Given the description of an element on the screen output the (x, y) to click on. 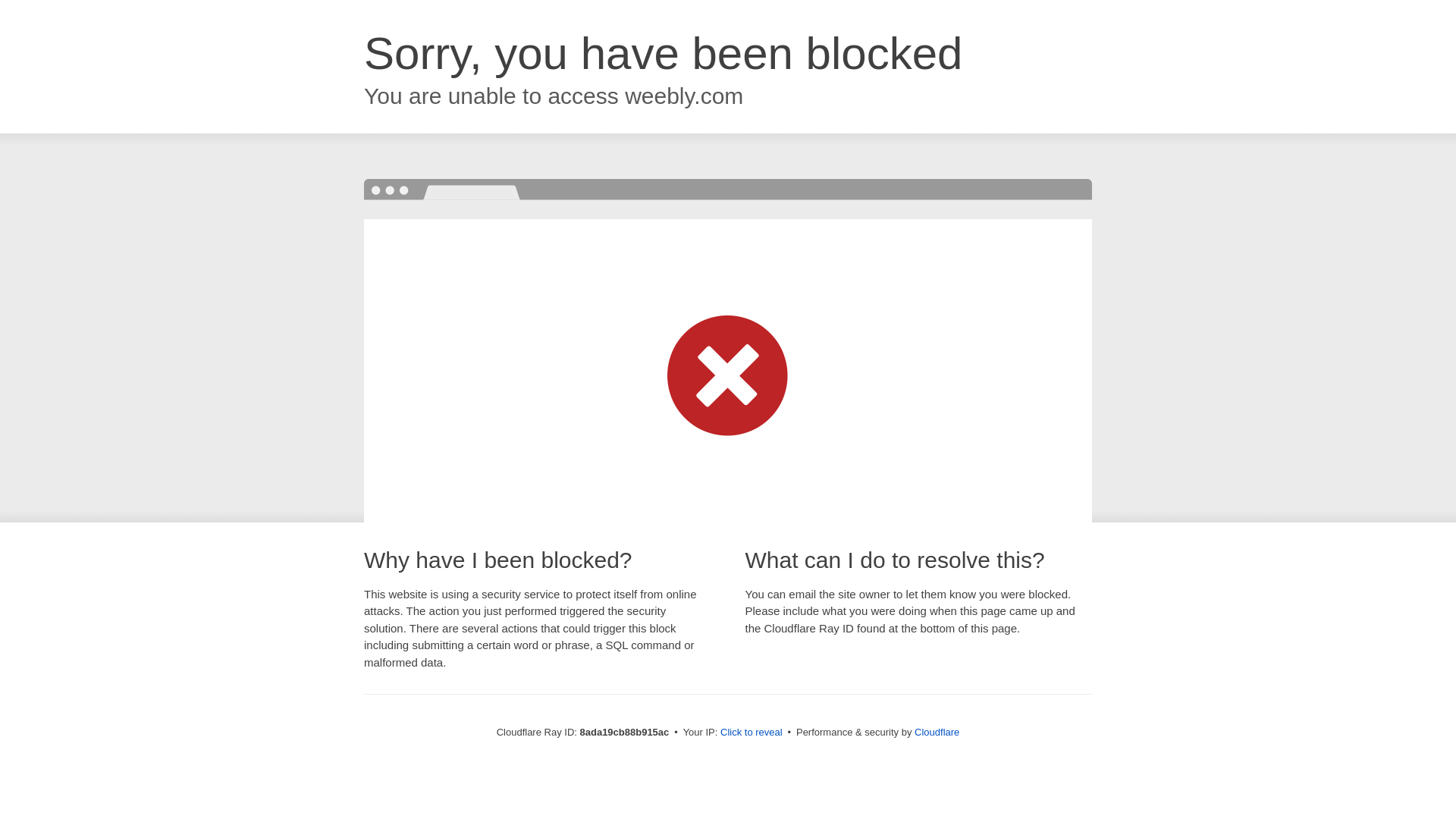
Click to reveal (751, 732)
Cloudflare (936, 731)
